Given the description of an element on the screen output the (x, y) to click on. 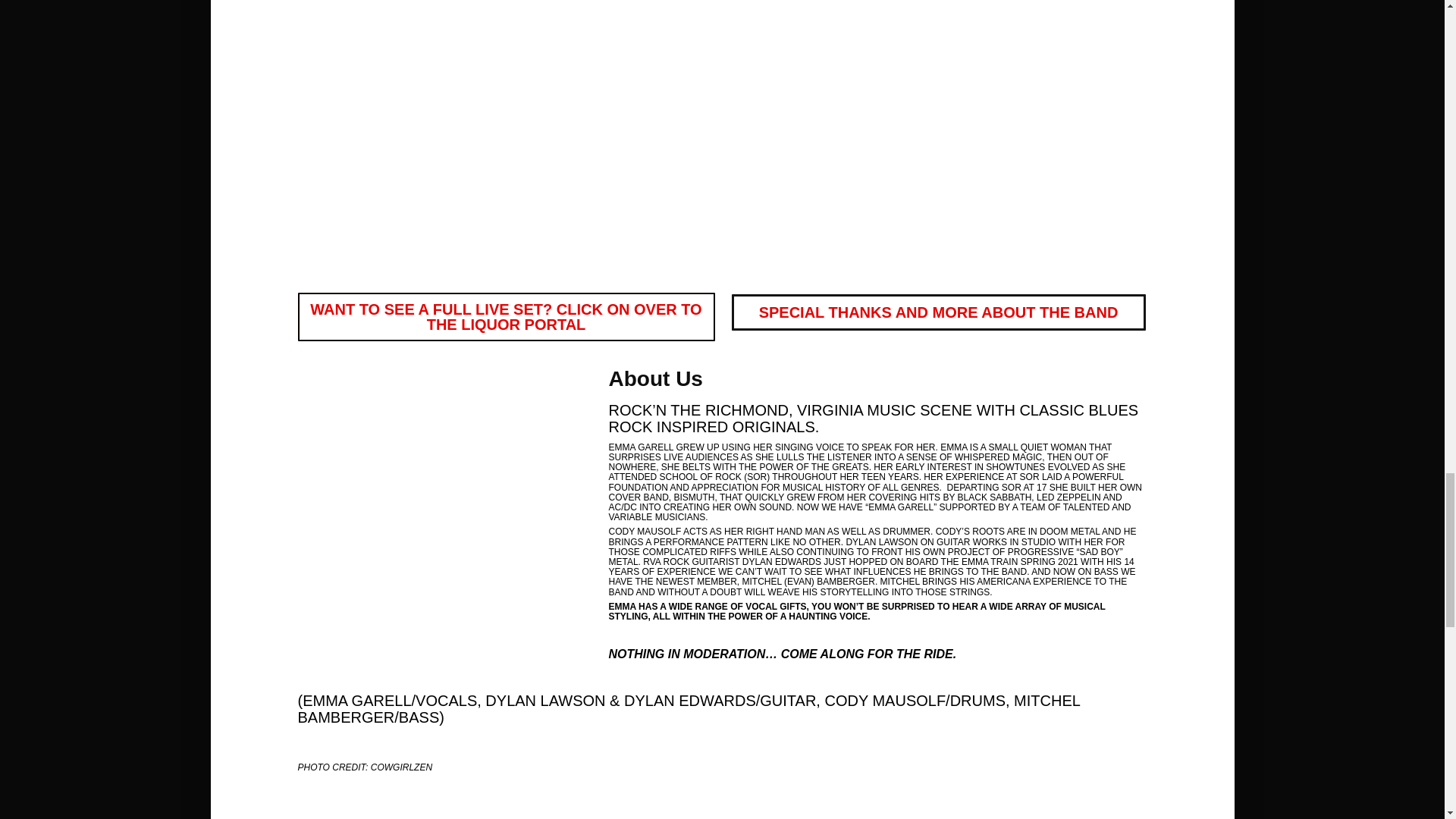
SPECIAL THANKS AND MORE ABOUT THE BAND (938, 312)
